Given the description of an element on the screen output the (x, y) to click on. 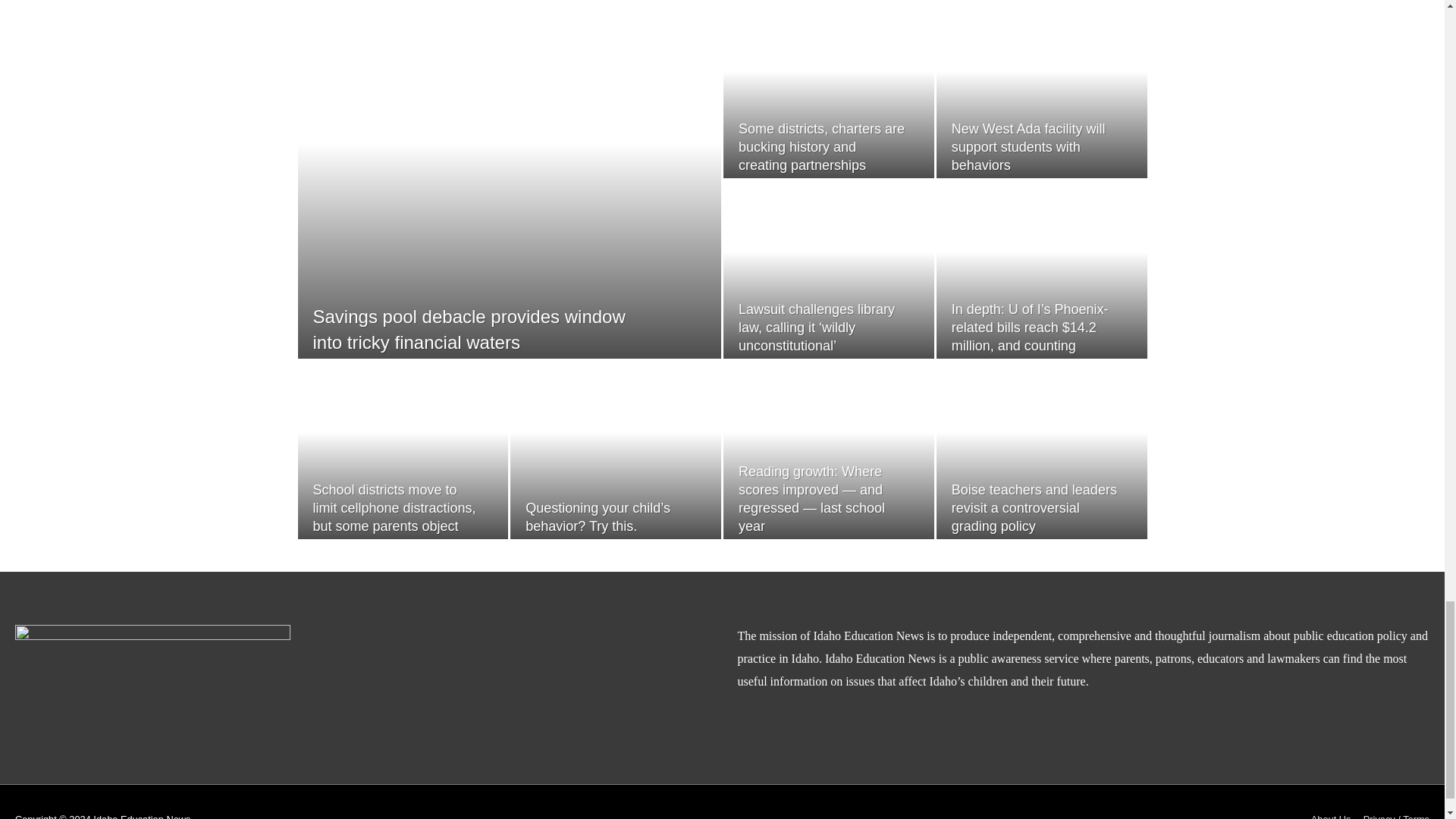
New West Ada facility will support students with behaviors (1028, 146)
